Given the description of an element on the screen output the (x, y) to click on. 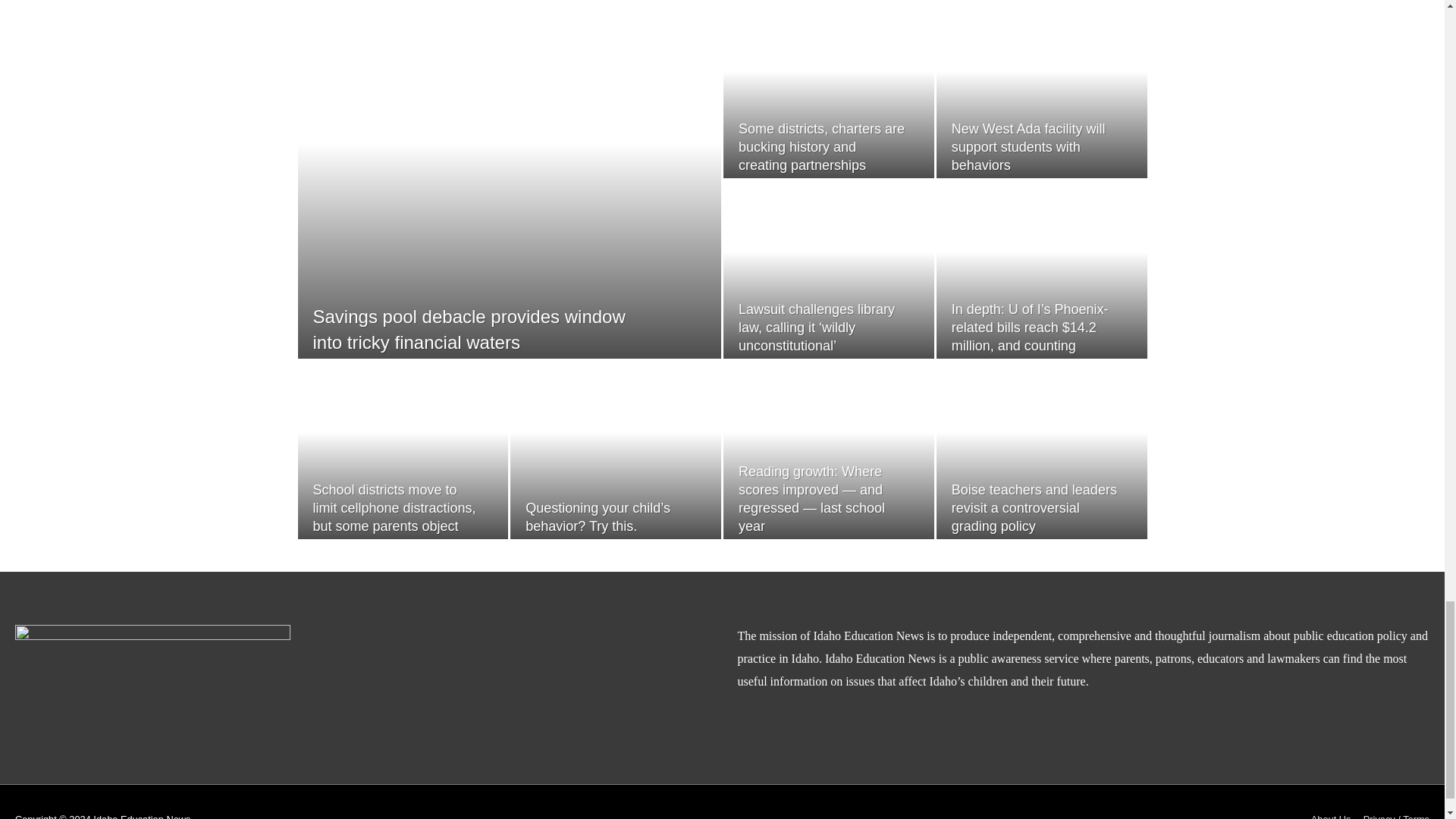
New West Ada facility will support students with behaviors (1028, 146)
